Given the description of an element on the screen output the (x, y) to click on. 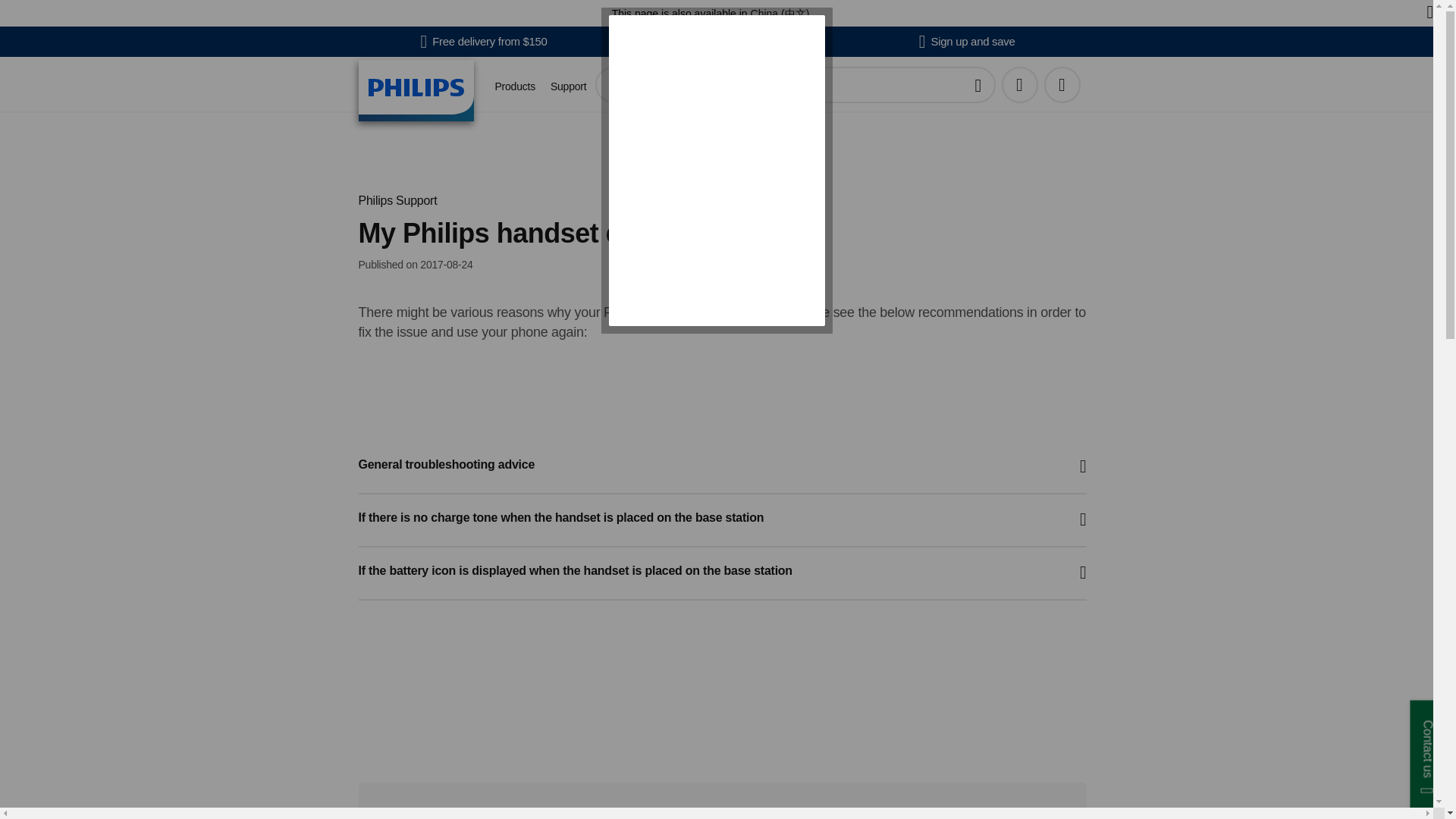
Home (415, 90)
Sign up and save (966, 41)
Products (513, 86)
